Given the description of an element on the screen output the (x, y) to click on. 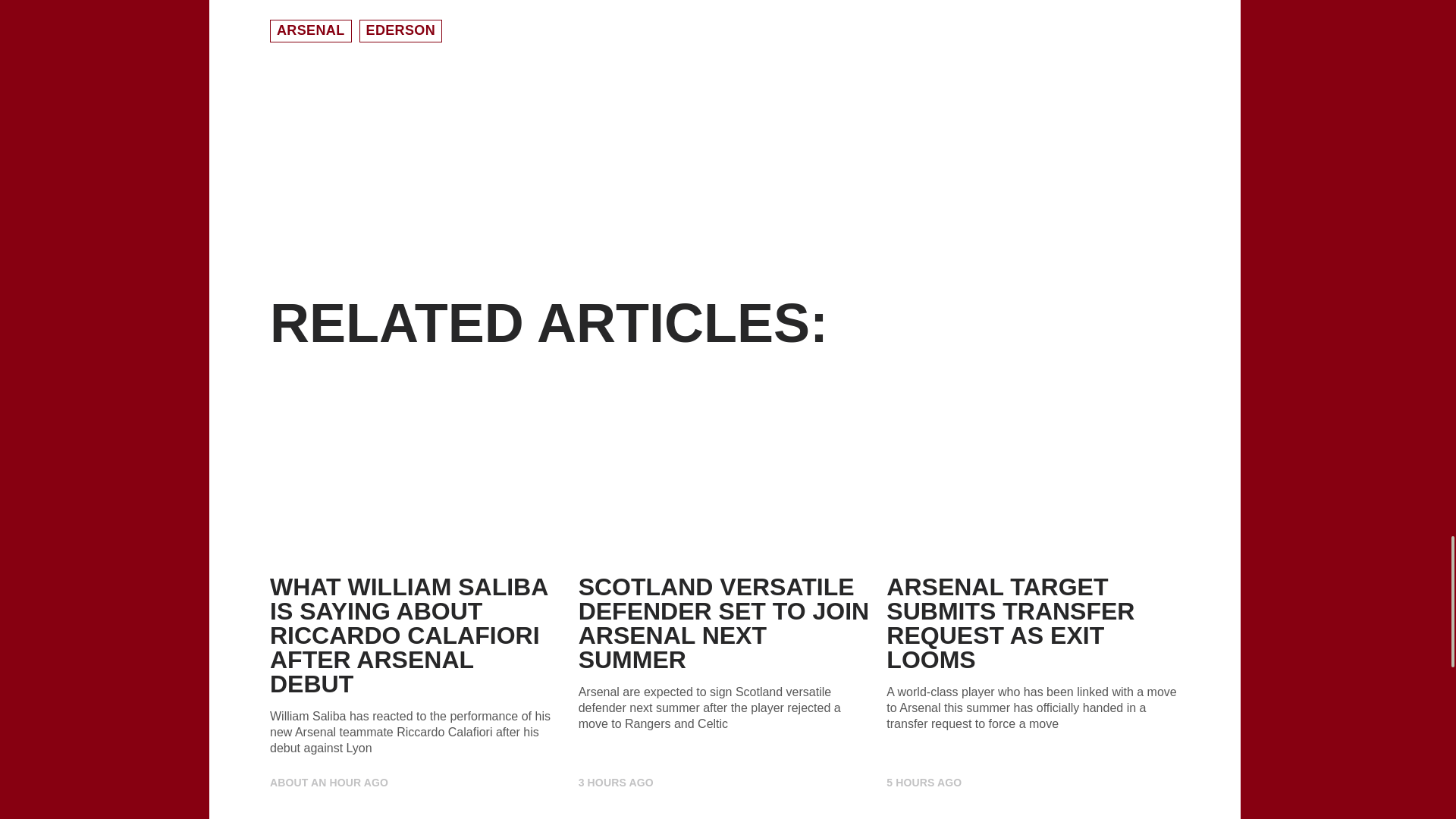
ARSENAL TARGET SUBMITS TRANSFER REQUEST AS EXIT LOOMS (1010, 623)
ARSENAL (310, 30)
SCOTLAND VERSATILE DEFENDER SET TO JOIN ARSENAL NEXT SUMMER  (723, 623)
EDERSON (400, 30)
